Given the description of an element on the screen output the (x, y) to click on. 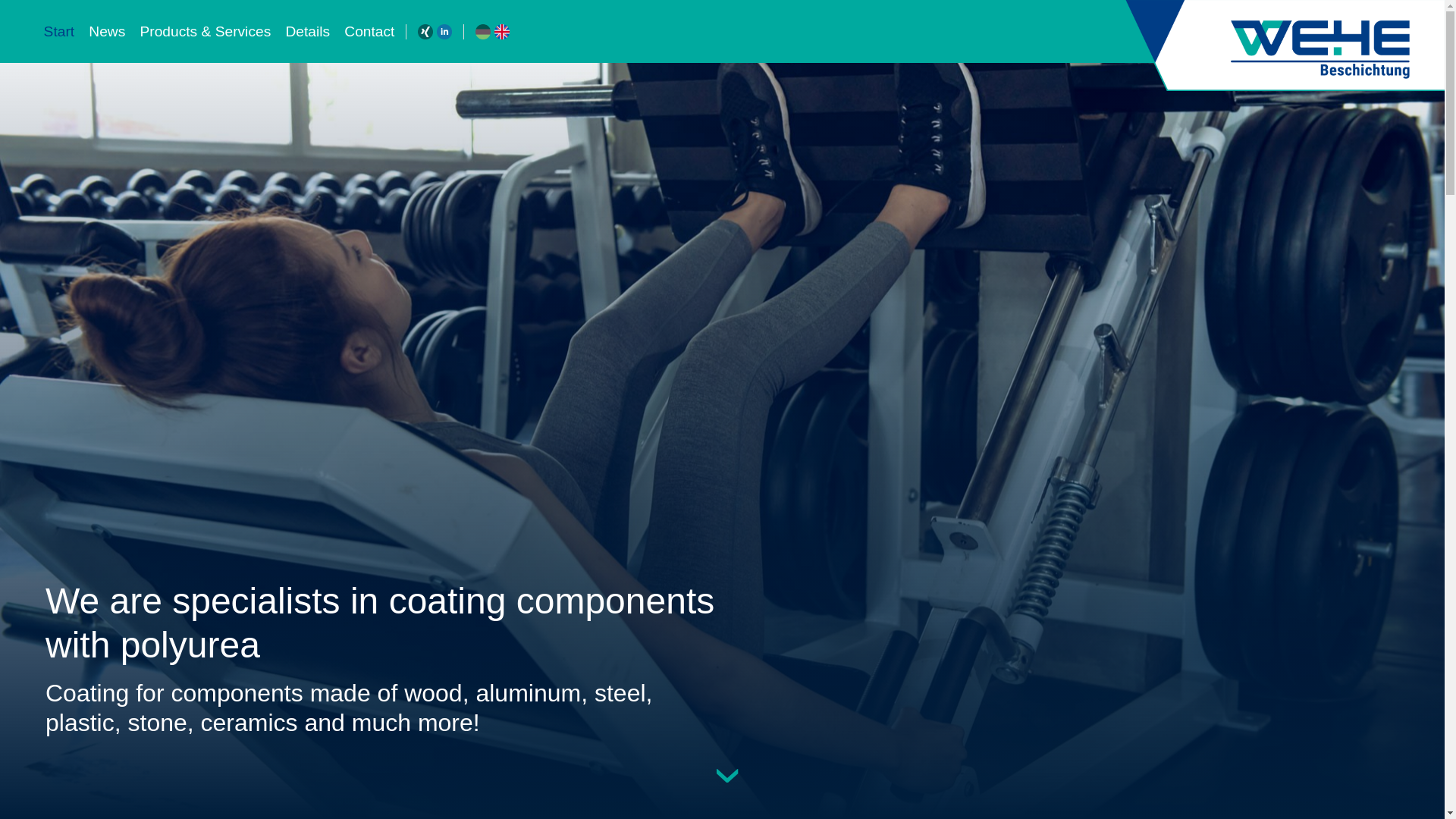
WEHE Beschichtung at LinkedIn (443, 31)
Sprache: Deutsch (483, 31)
News (106, 32)
Details (307, 32)
WEHE Beschichtung at XING (424, 31)
To our news (698, 793)
Language: English (502, 31)
Contact (365, 32)
Start (58, 32)
